Given the description of an element on the screen output the (x, y) to click on. 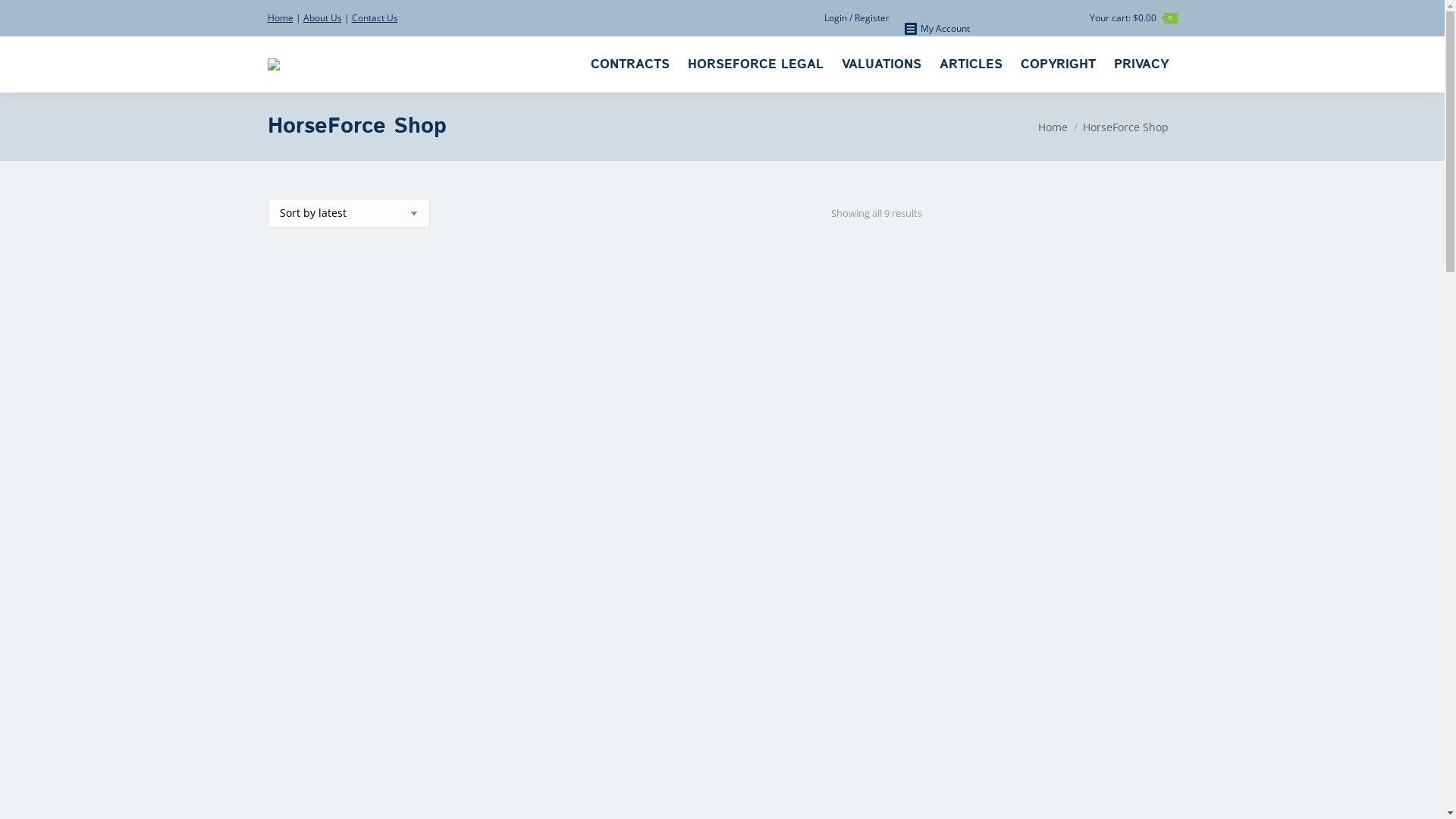
CONTRACTS Element type: text (628, 64)
Login / Register Element type: text (855, 18)
Home Element type: text (279, 17)
PRIVACY Element type: text (1140, 64)
HORSEFORCE LEGAL Element type: text (754, 64)
Your cart: 
$0.00
0 Element type: text (1132, 18)
COPYRIGHT Element type: text (1057, 64)
ARTICLES Element type: text (969, 64)
Go! Element type: text (23, 16)
Contact Us Element type: text (374, 17)
VALUATIONS Element type: text (881, 64)
Home Element type: text (1051, 126)
About Us Element type: text (322, 17)
